Given the description of an element on the screen output the (x, y) to click on. 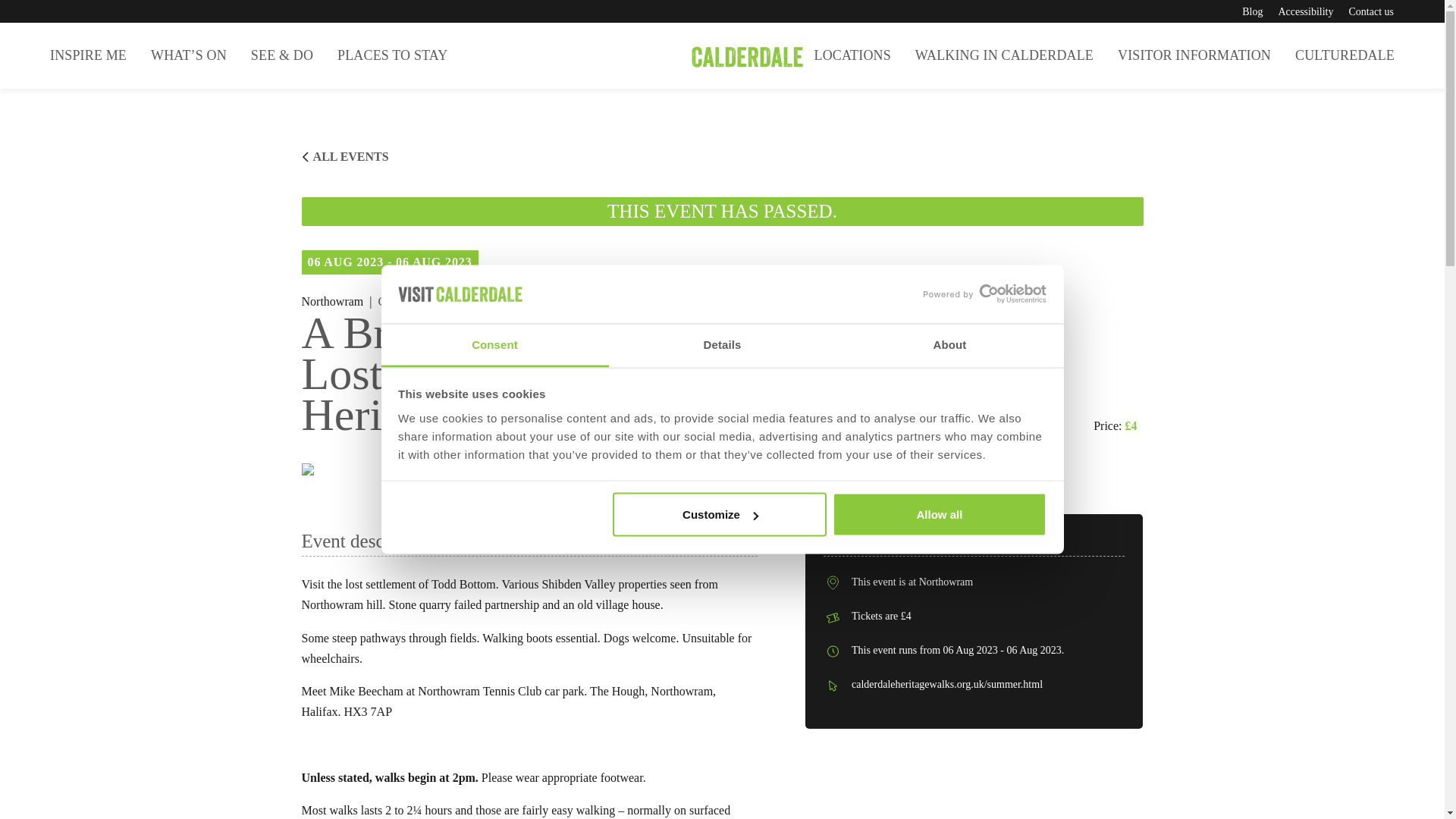
Consent (494, 344)
Visit Calderdale (722, 55)
Inspire me (87, 55)
About (948, 344)
Allow all (939, 515)
What's on (188, 55)
Customize (719, 515)
Details (721, 344)
